Given the description of an element on the screen output the (x, y) to click on. 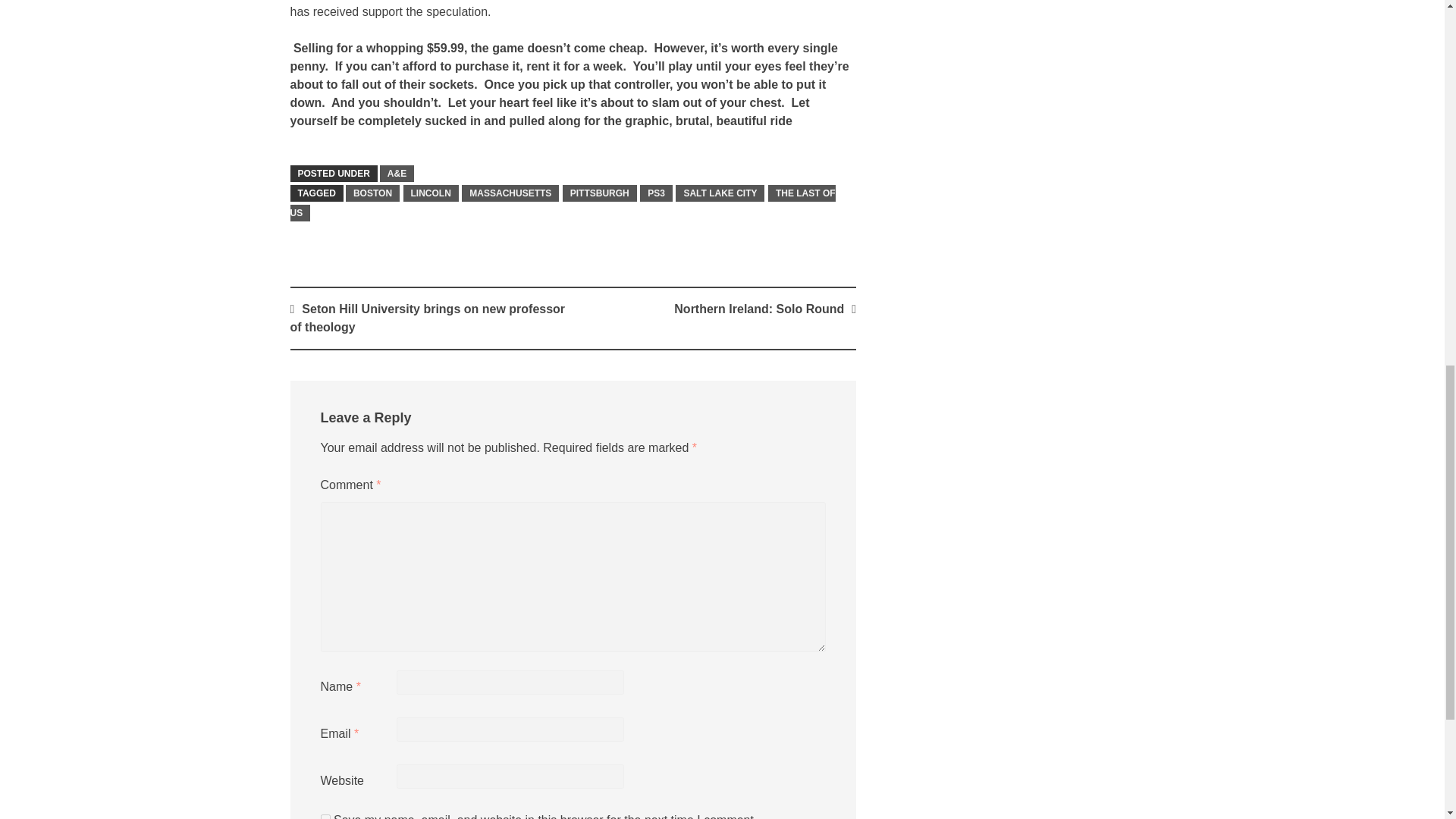
MASSACHUSETTS (510, 193)
BOSTON (372, 193)
yes (325, 816)
SALT LAKE CITY (719, 193)
THE LAST OF US (561, 203)
LINCOLN (430, 193)
Northern Ireland: Solo Round (759, 308)
PITTSBURGH (599, 193)
Seton Hill University brings on new professor of theology (426, 317)
PS3 (656, 193)
